Given the description of an element on the screen output the (x, y) to click on. 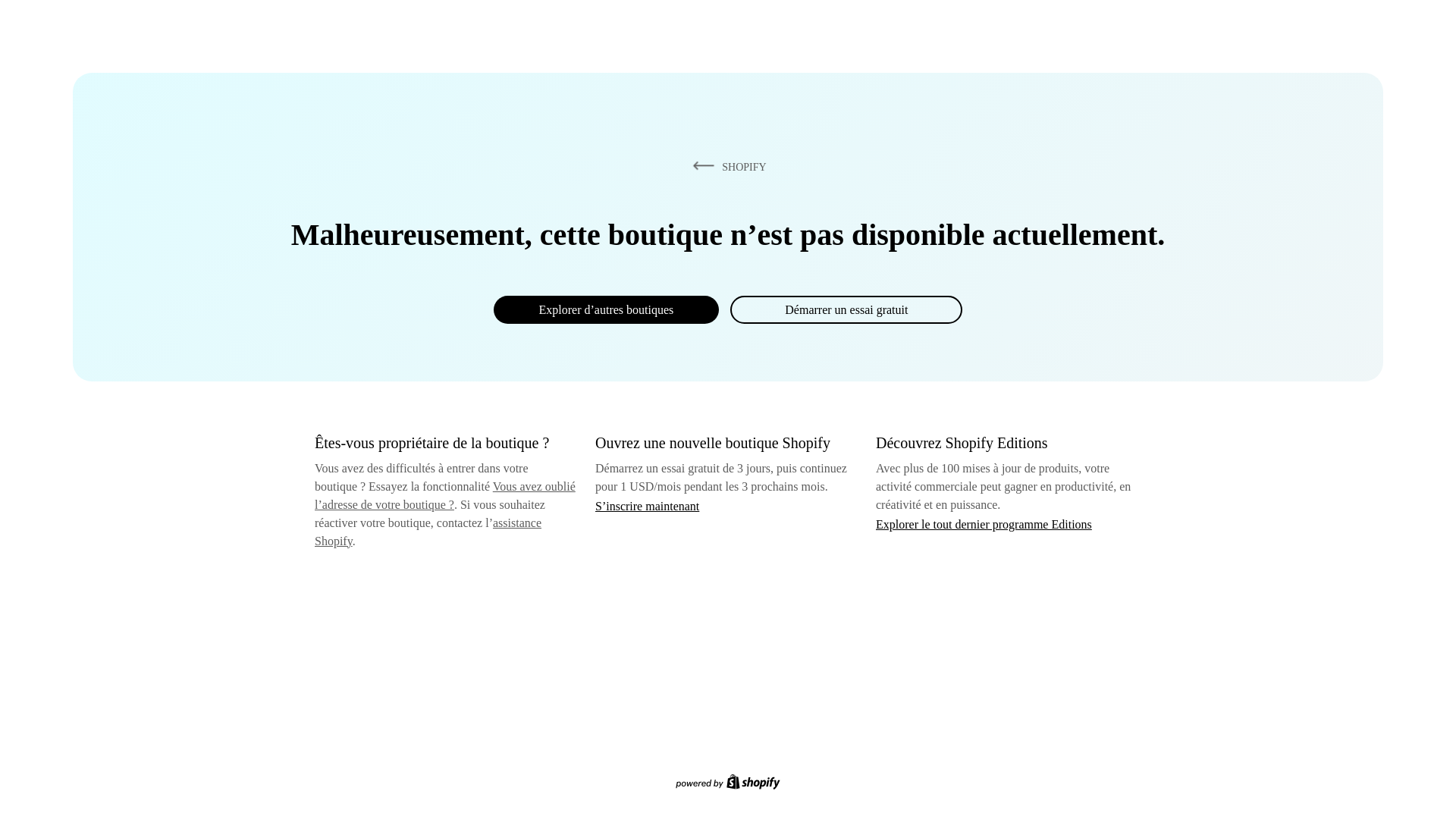
assistance Shopify (427, 531)
SHOPIFY (726, 166)
Explorer le tout dernier programme Editions (984, 523)
